Given the description of an element on the screen output the (x, y) to click on. 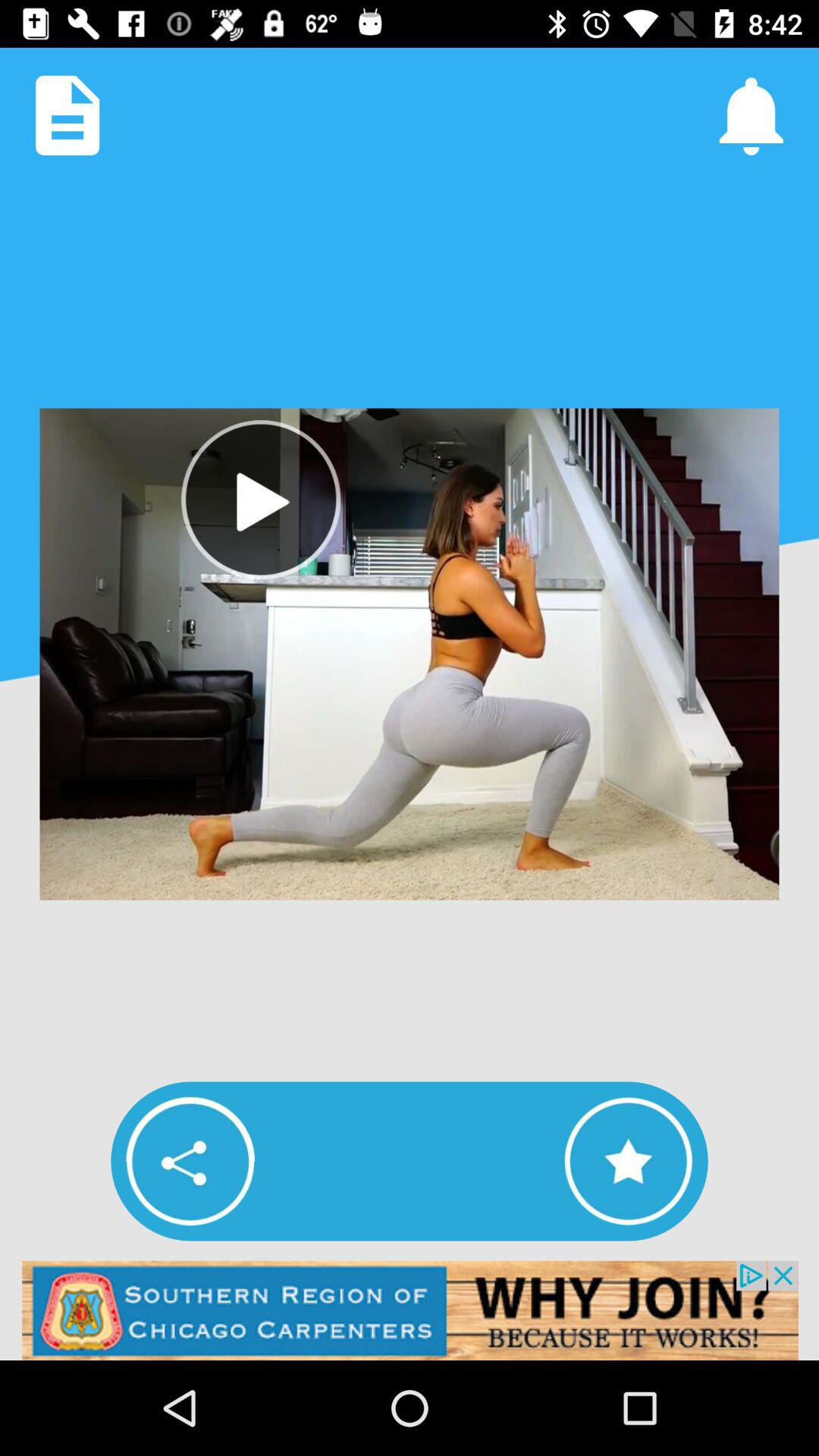
select share (190, 1161)
